Given the description of an element on the screen output the (x, y) to click on. 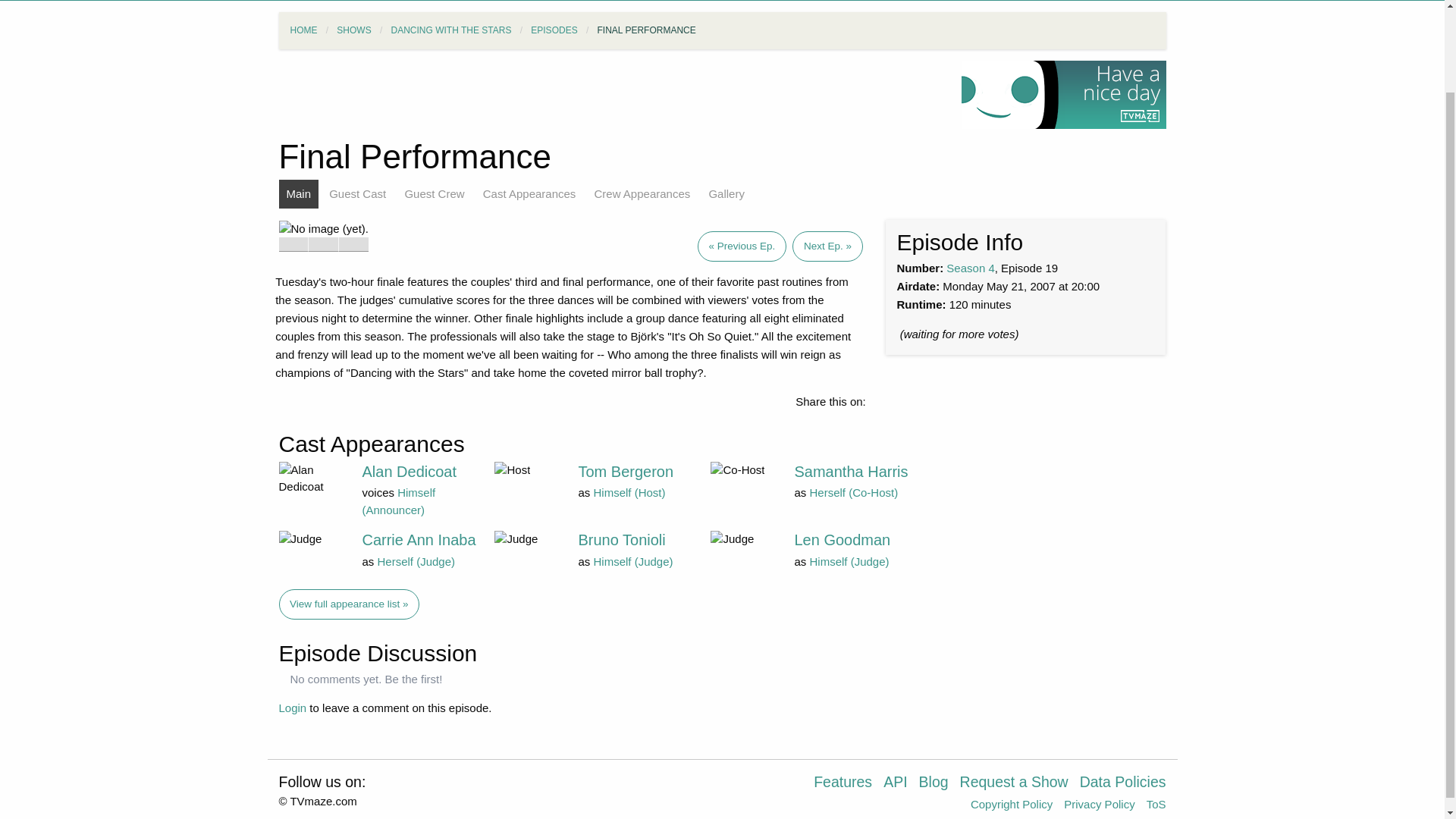
Forums (884, 0)
Calendar (732, 0)
Watched (323, 244)
DANCING WITH THE STARS (451, 30)
Crew Appearances (642, 193)
Skipped (353, 244)
Guest Crew (433, 193)
Shows (295, 0)
Gallery (726, 193)
SHOWS (353, 30)
Guest Cast (357, 193)
Schedule (660, 0)
Season 4 (970, 267)
Previous Episode (744, 250)
